Given the description of an element on the screen output the (x, y) to click on. 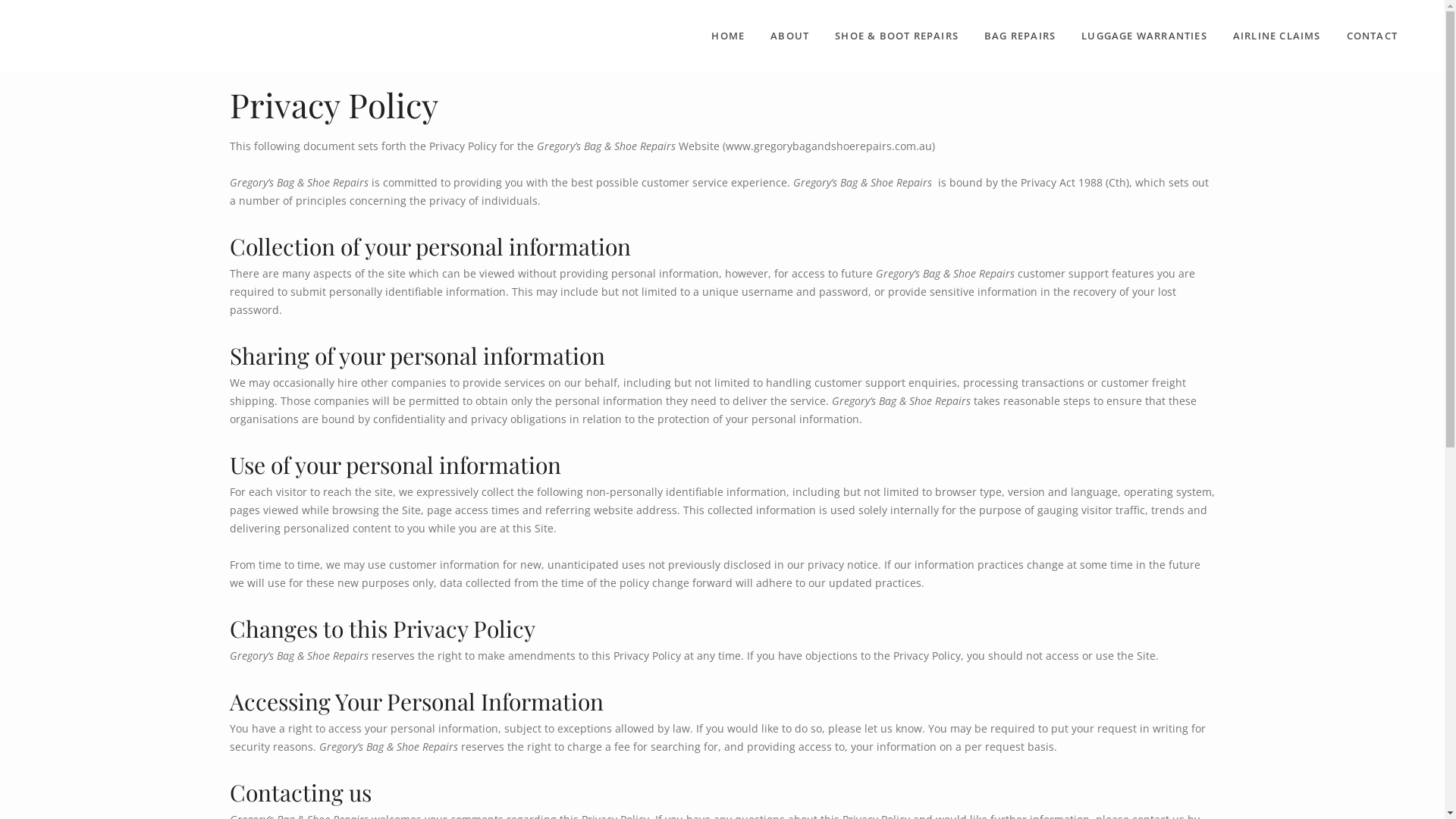
LUGGAGE WARRANTIES Element type: text (1144, 36)
BAG REPAIRS Element type: text (1019, 36)
HOME Element type: text (727, 36)
AIRLINE CLAIMS Element type: text (1276, 36)
CONTACT Element type: text (1371, 36)
SHOE & BOOT REPAIRS Element type: text (896, 36)
ABOUT Element type: text (789, 36)
